Given the description of an element on the screen output the (x, y) to click on. 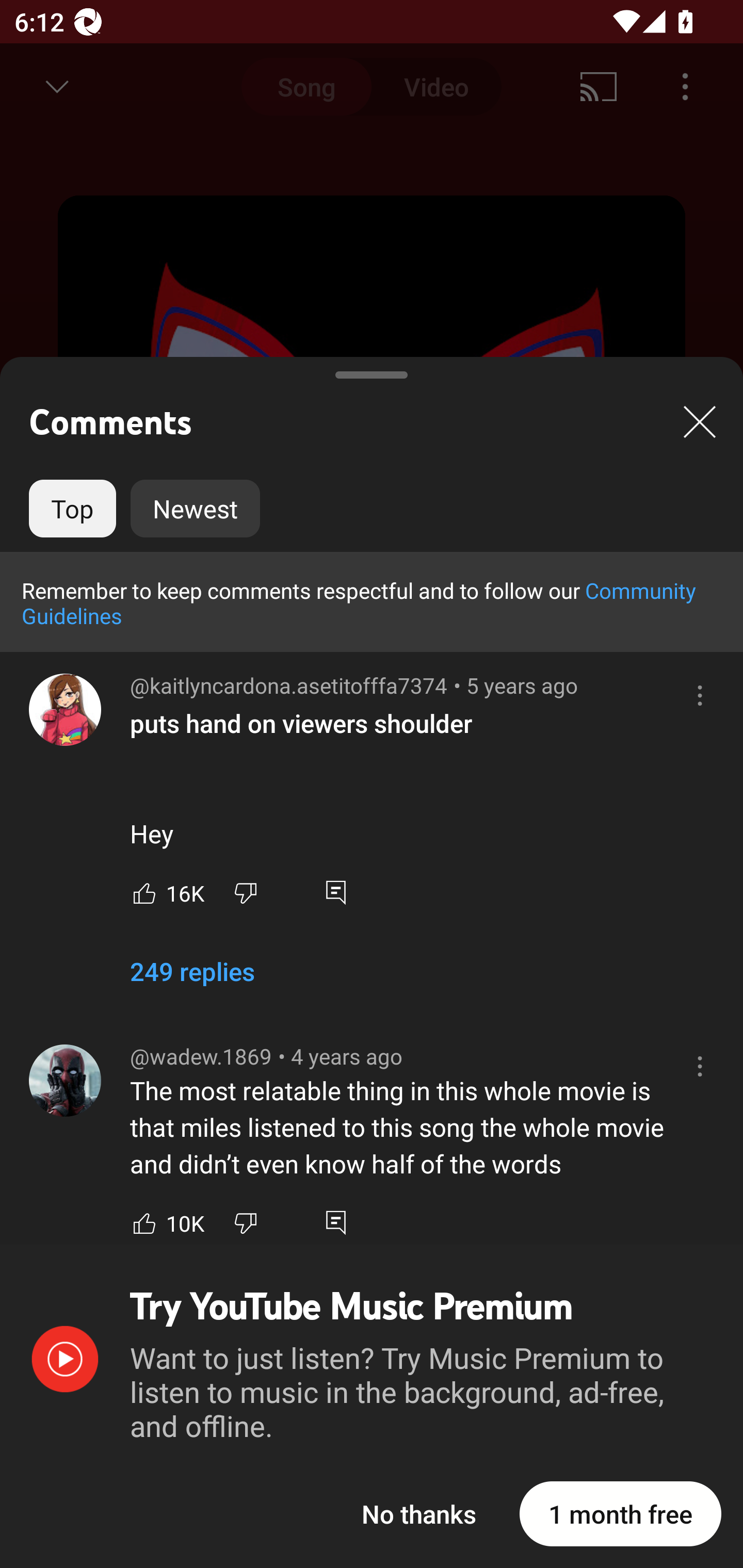
Close (699, 421)
Top (71, 508)
Newest (195, 508)
Action menu (699, 695)
@kaitlyncardona.asetitofffa7374 (64, 710)
Like this comment along with 16K other people (144, 892)
Dislike this comment (245, 892)
Reply (335, 892)
View 249 total replies (192, 979)
Action menu (699, 1066)
@wadew.1869 (64, 1080)
Like this comment along with 10K other people (144, 1222)
Dislike this comment (245, 1222)
Reply (335, 1222)
No thanks (418, 1513)
1 month free (620, 1513)
